Given the description of an element on the screen output the (x, y) to click on. 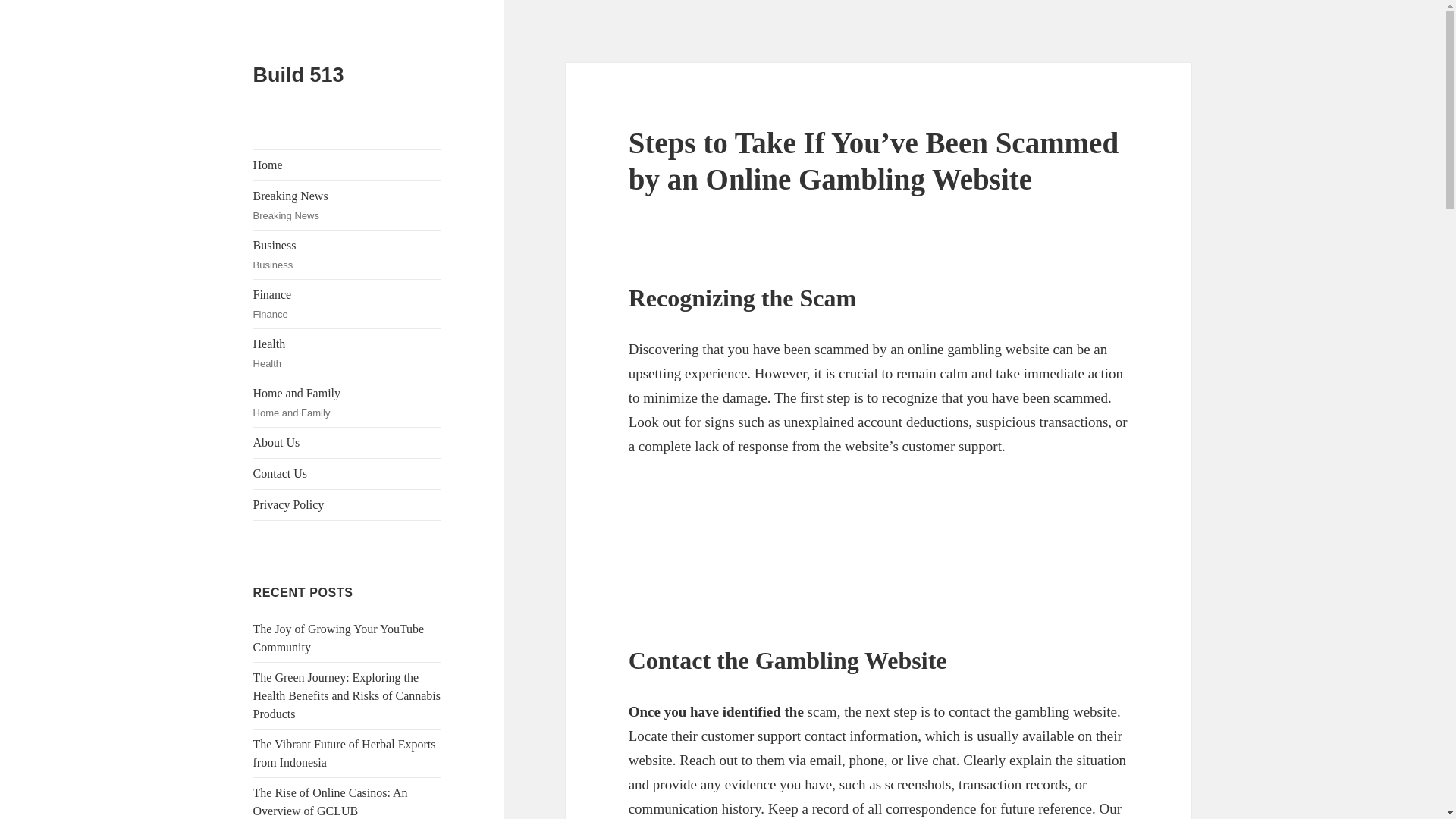
About Us (347, 442)
The Rise of Online Casinos: An Overview of GCLUB (330, 801)
Contact Us (347, 473)
The Vibrant Future of Herbal Exports from Indonesia (344, 753)
Privacy Policy (347, 304)
